Given the description of an element on the screen output the (x, y) to click on. 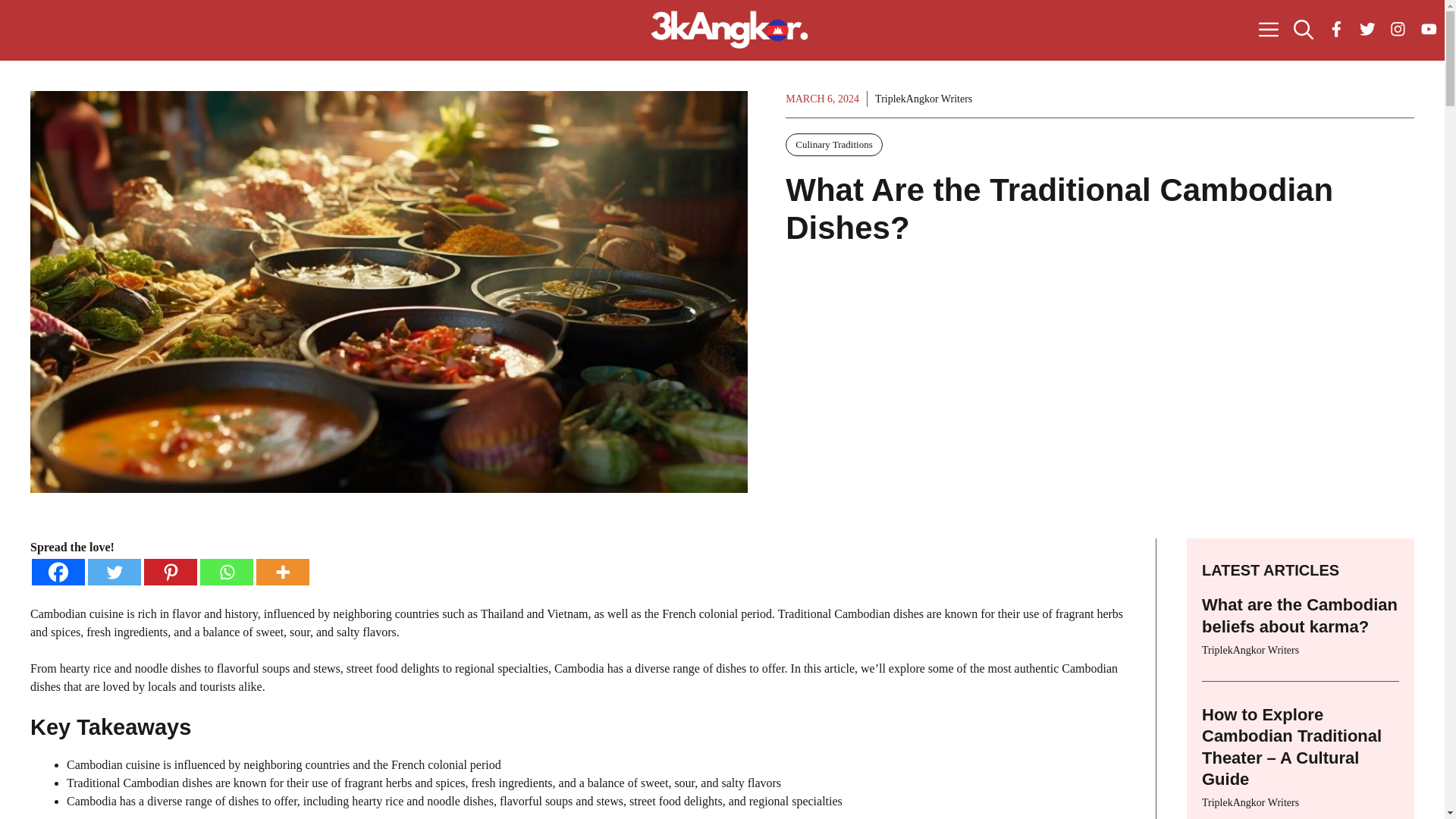
What are the Cambodian beliefs about karma? (1299, 615)
TriplekAngkor Writers (1250, 802)
Whatsapp (226, 571)
Culinary Traditions (834, 144)
TriplekAngkor Writers (1250, 650)
TriplekAngkor Writers (923, 98)
Triple K Angkor: Exploring the Soul of Cambodia (729, 30)
More (282, 571)
Twitter (114, 571)
Pinterest (170, 571)
